Given the description of an element on the screen output the (x, y) to click on. 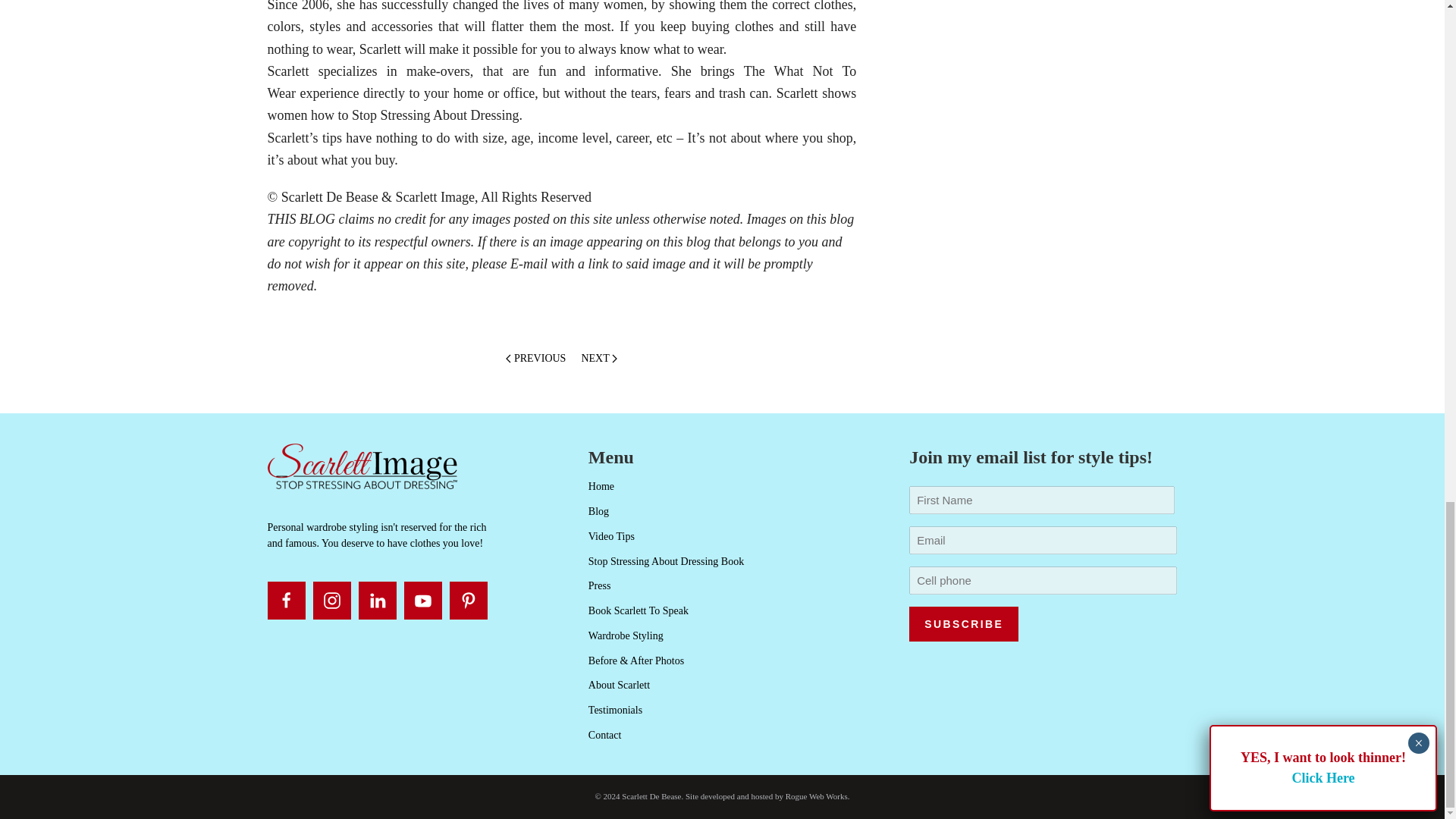
Subscribe (962, 623)
NEXT (598, 359)
PREVIOUS (535, 359)
